Given the description of an element on the screen output the (x, y) to click on. 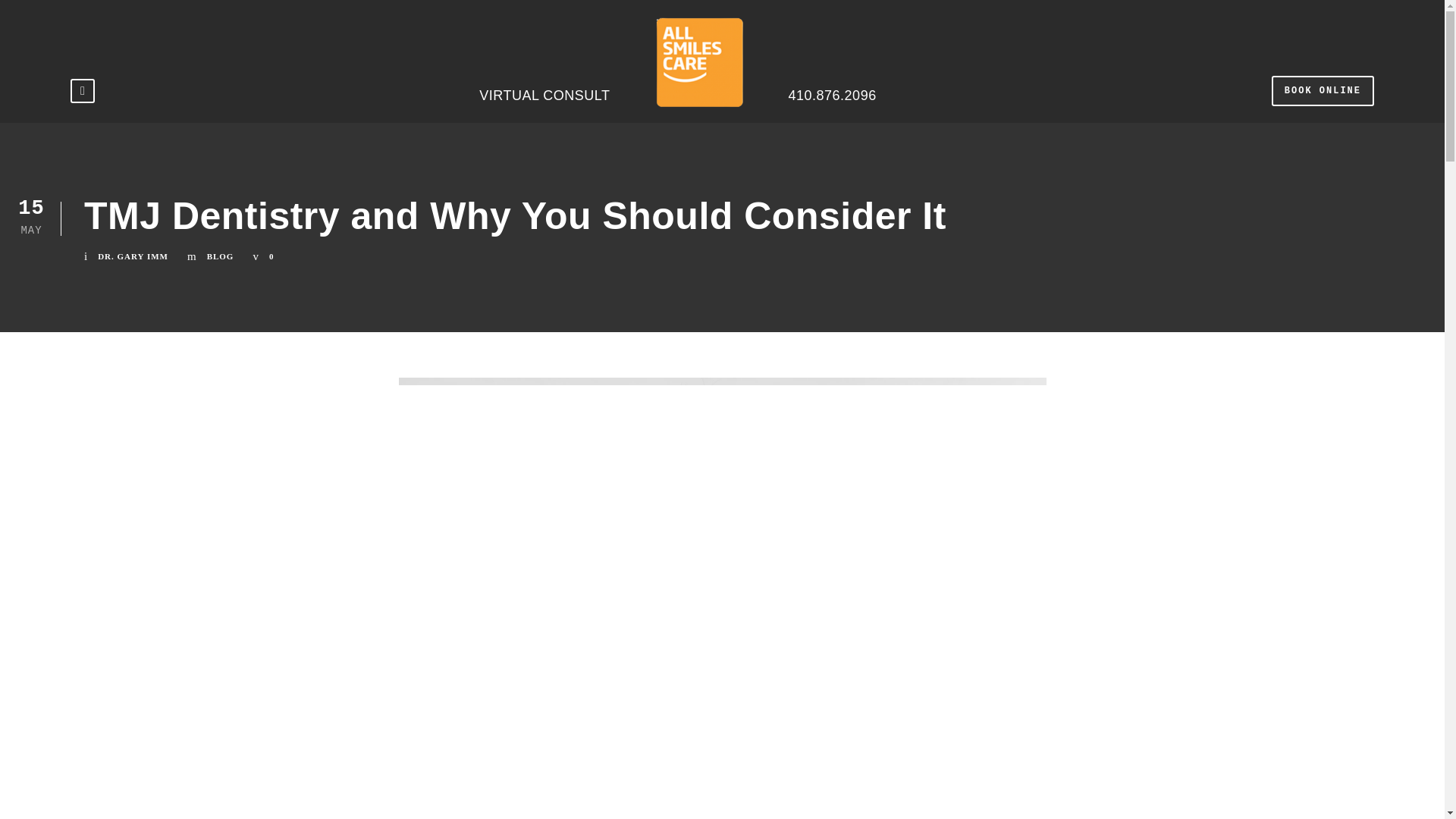
DR. GARY IMM (132, 256)
Posts by Dr. Gary Imm (132, 256)
BOOK ONLINE (1322, 91)
VIRTUAL CONSULT (544, 68)
BLOG (220, 256)
